Given the description of an element on the screen output the (x, y) to click on. 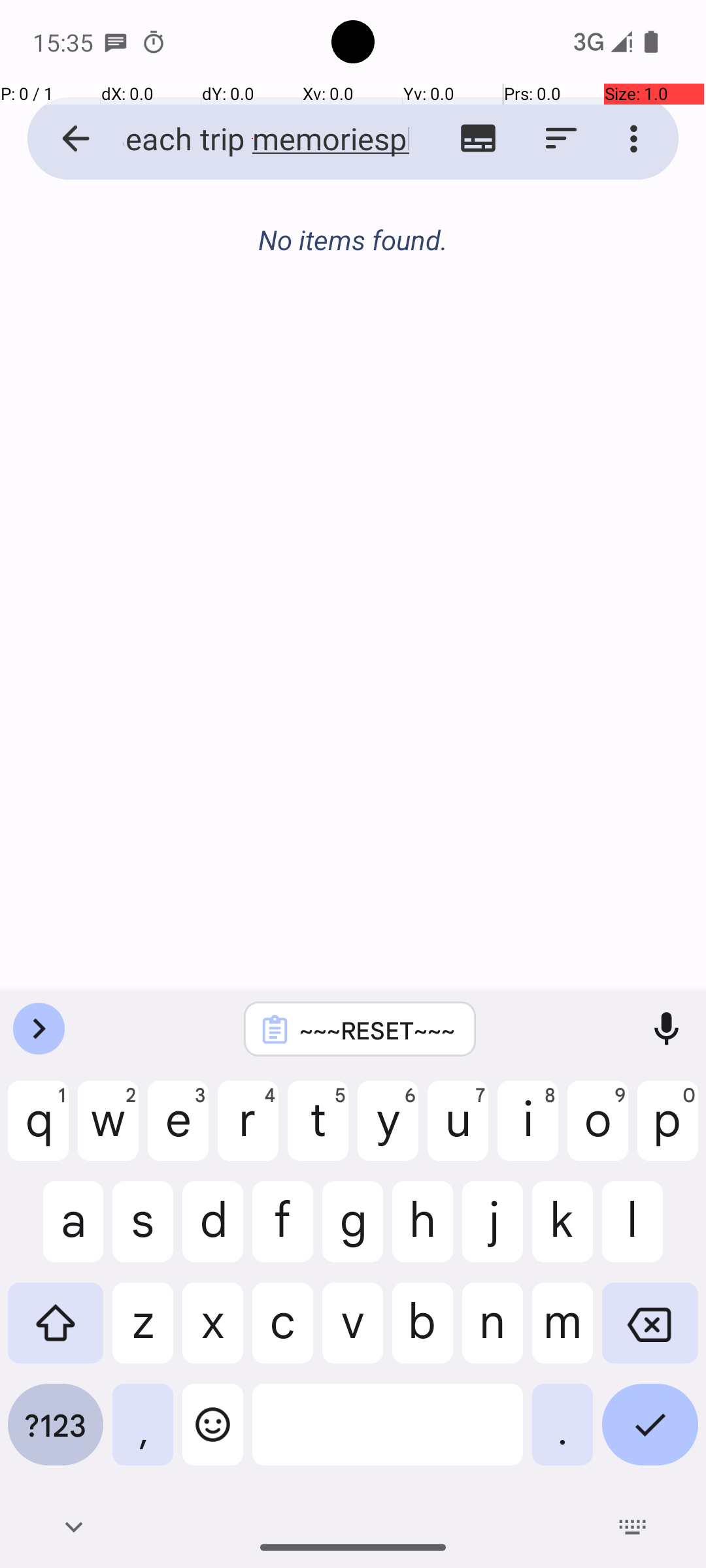
Vacation Beach trip memoriesphotos Element type: android.widget.EditText (252, 138)
